Given the description of an element on the screen output the (x, y) to click on. 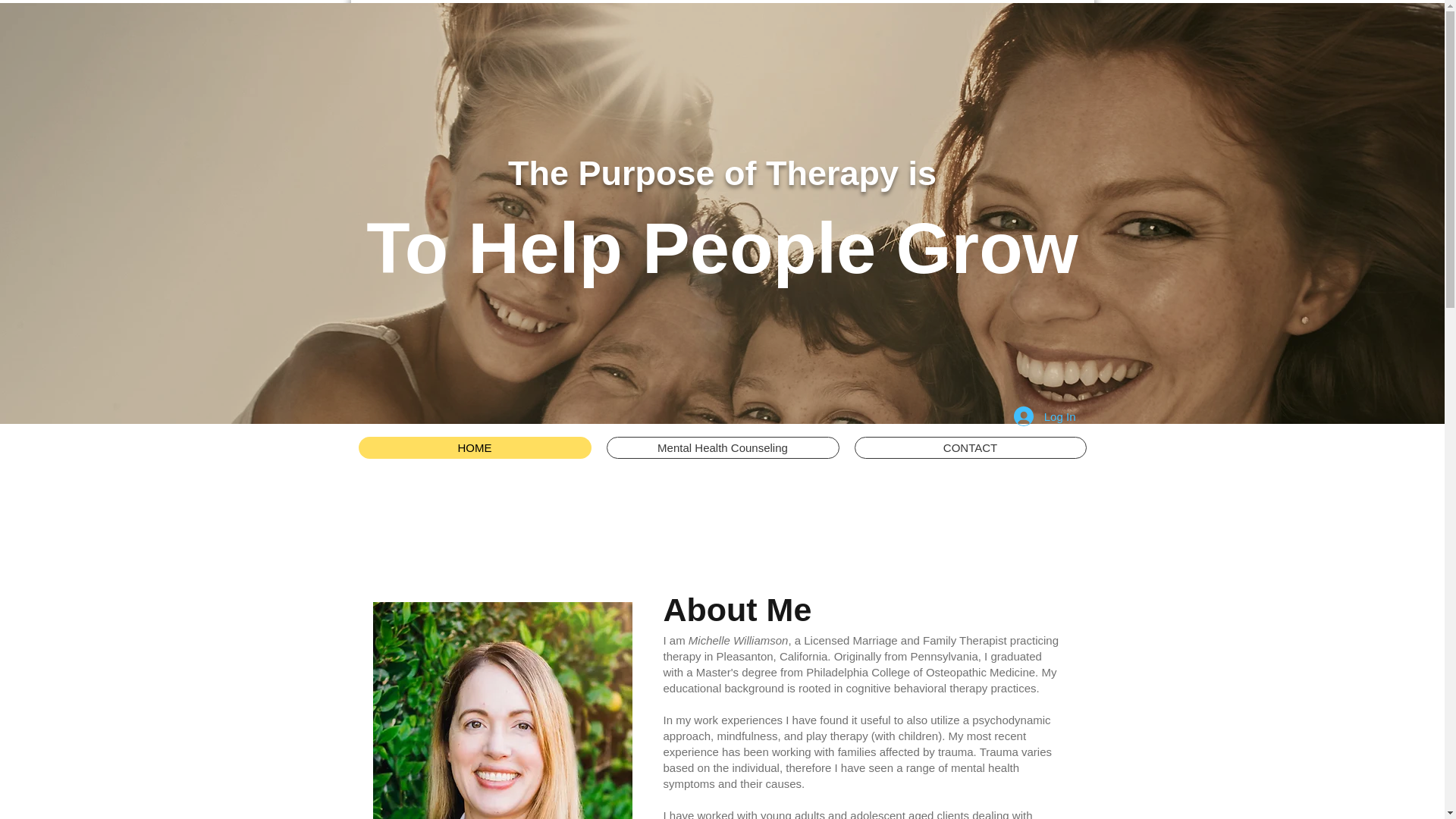
CONTACT (969, 447)
HOME (474, 447)
Log In (1044, 416)
Mental Health Counseling (723, 447)
